Given the description of an element on the screen output the (x, y) to click on. 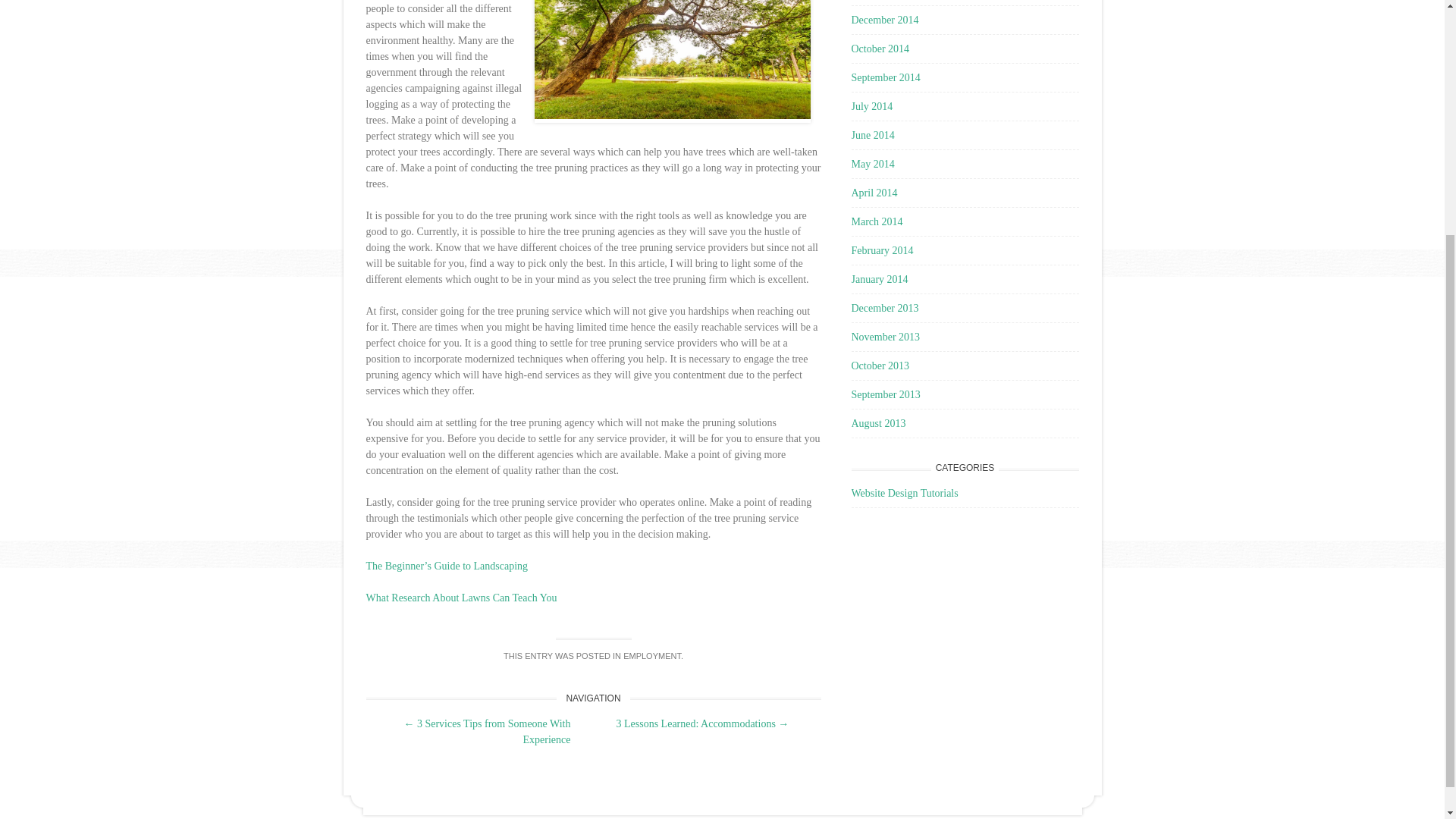
EMPLOYMENT (652, 655)
January 2014 (878, 279)
April 2014 (873, 193)
What Research About Lawns Can Teach You (460, 597)
December 2013 (884, 307)
June 2014 (871, 134)
October 2013 (879, 365)
July 2014 (871, 106)
August 2013 (877, 423)
October 2014 (879, 48)
